Given the description of an element on the screen output the (x, y) to click on. 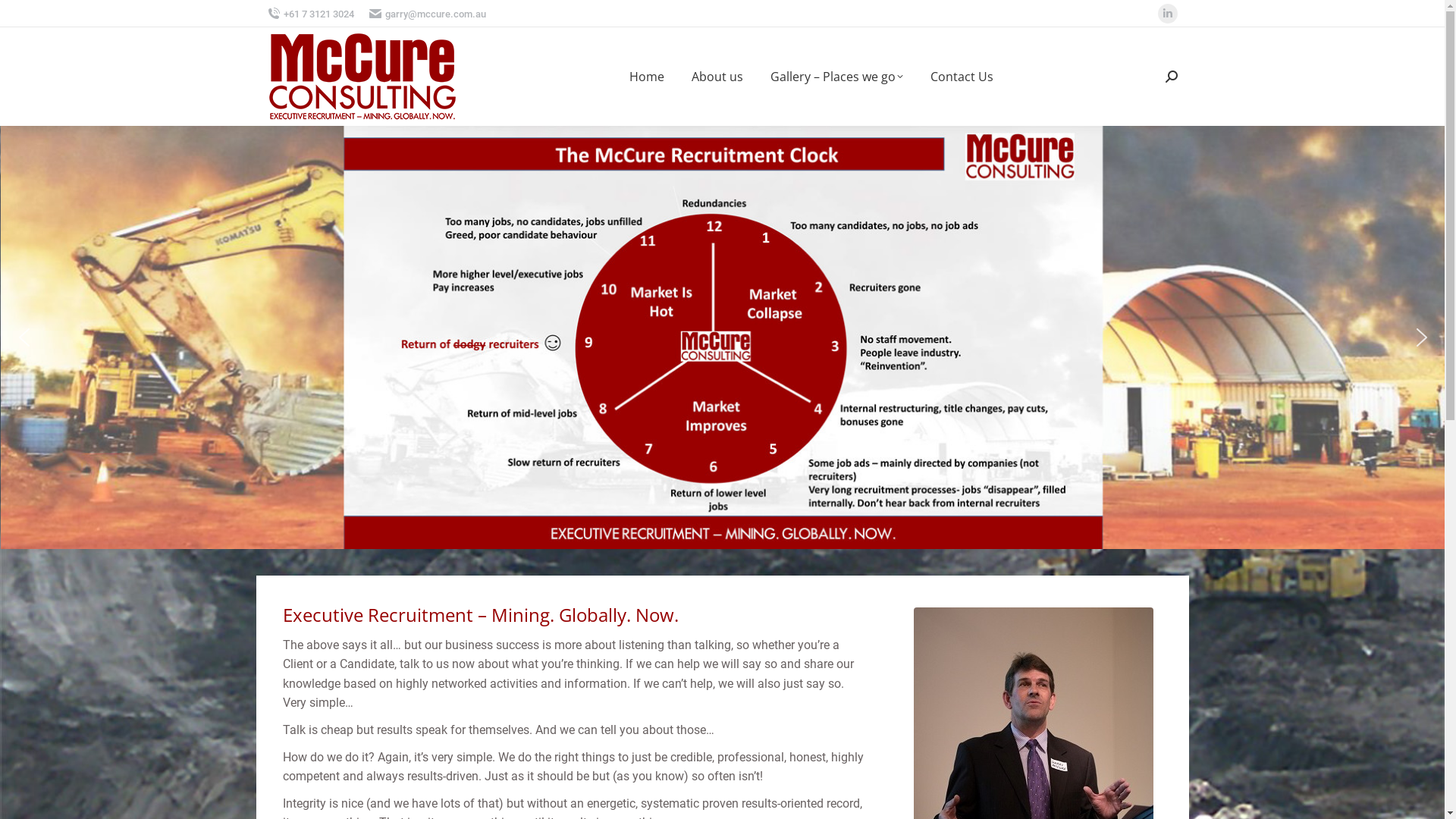
Home Element type: text (646, 76)
Go! Element type: text (23, 16)
About us Element type: text (717, 76)
Contact Us Element type: text (960, 76)
Linkedin page opens in new window Element type: text (1166, 13)
